Given the description of an element on the screen output the (x, y) to click on. 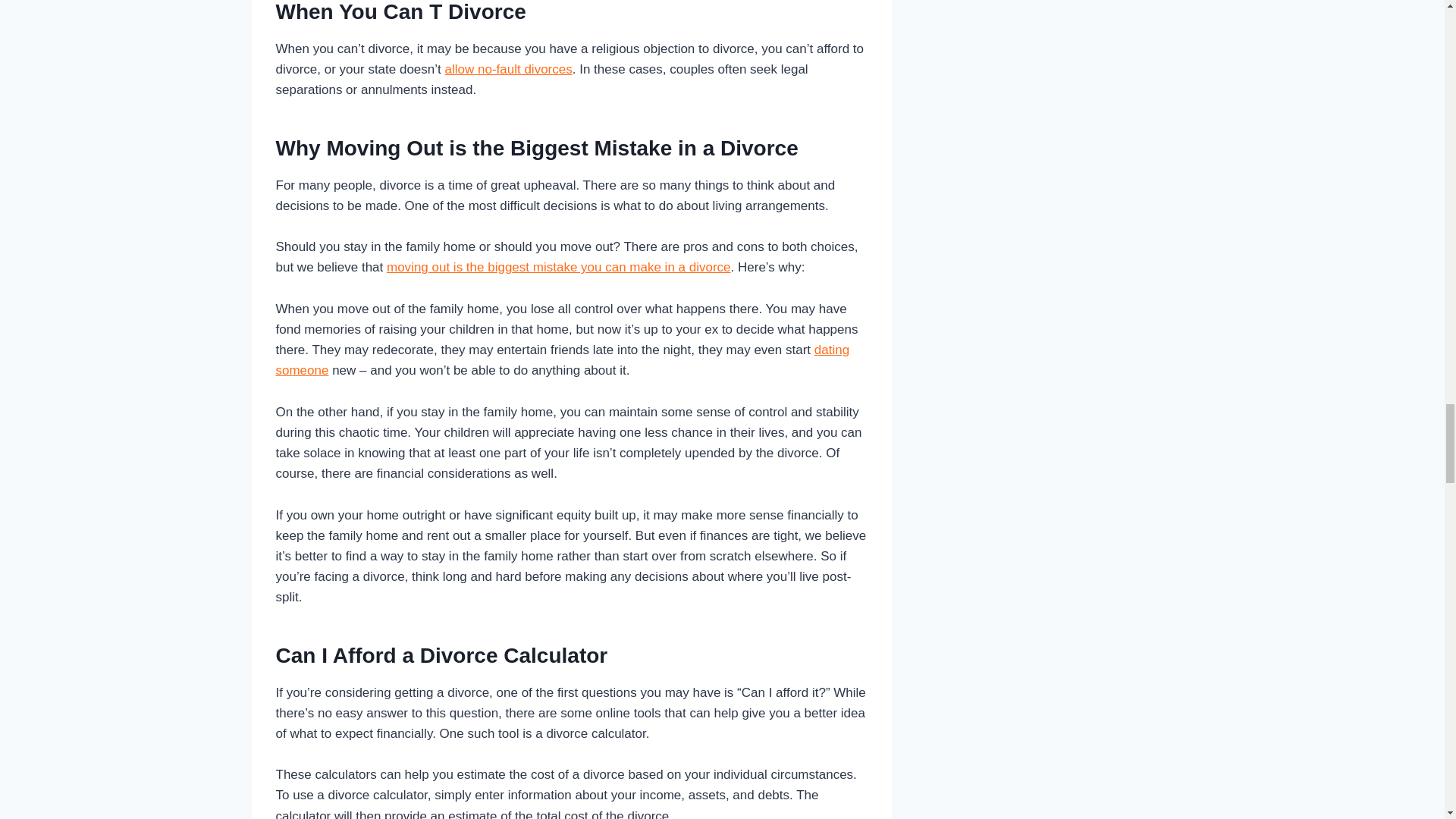
dating someone (563, 360)
allow no-fault divorces (508, 69)
moving out is the biggest mistake you can make in a divorce (558, 267)
